Given the description of an element on the screen output the (x, y) to click on. 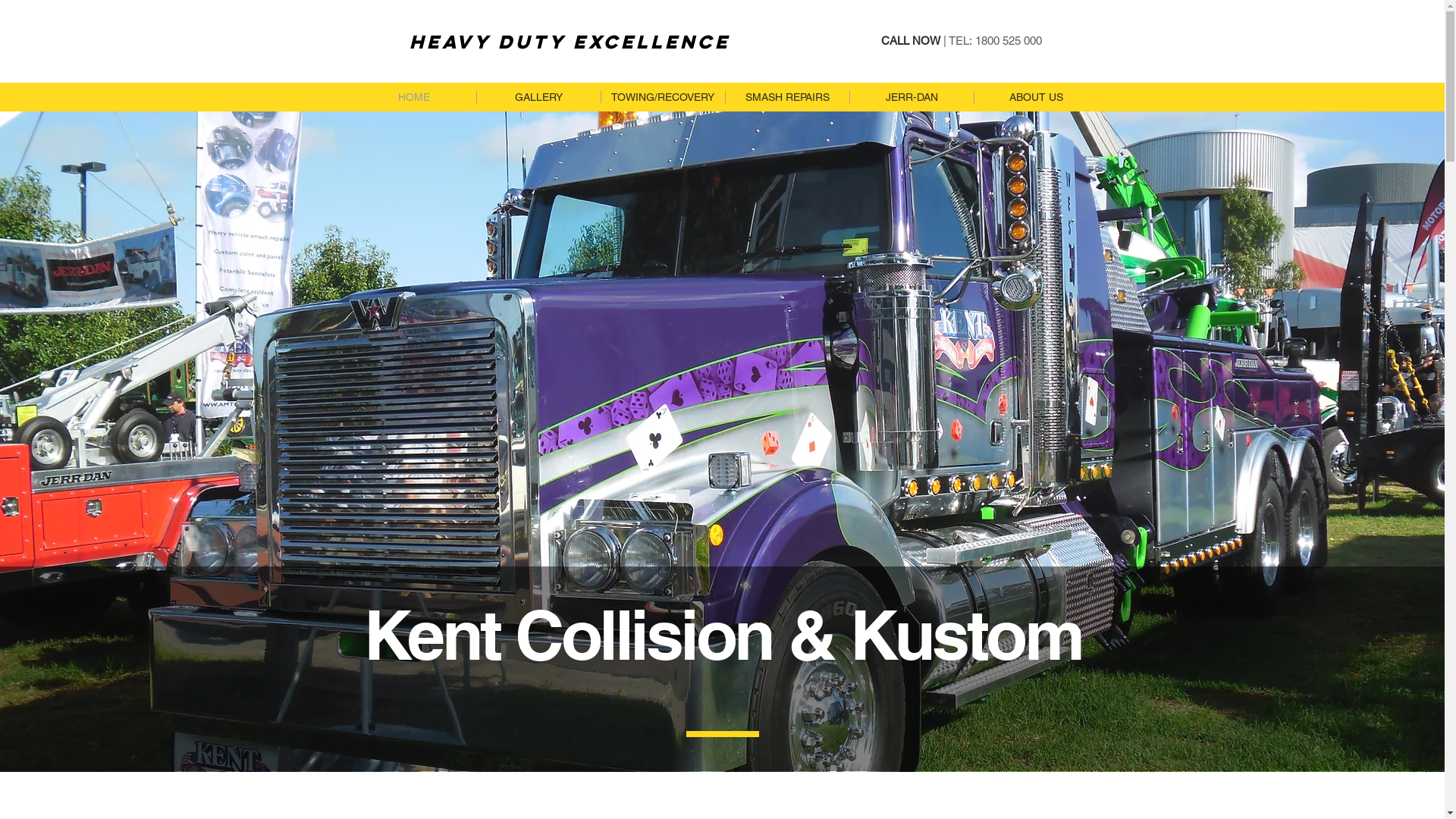
ABOUT US Element type: text (1035, 97)
GALLERY Element type: text (538, 97)
JERR-DAN Element type: text (911, 97)
HOME Element type: text (413, 97)
TOWING/RECOVERY Element type: text (662, 97)
Heavy Duty Excellence Element type: text (569, 41)
SMASH REPAIRS Element type: text (786, 97)
